Given the description of an element on the screen output the (x, y) to click on. 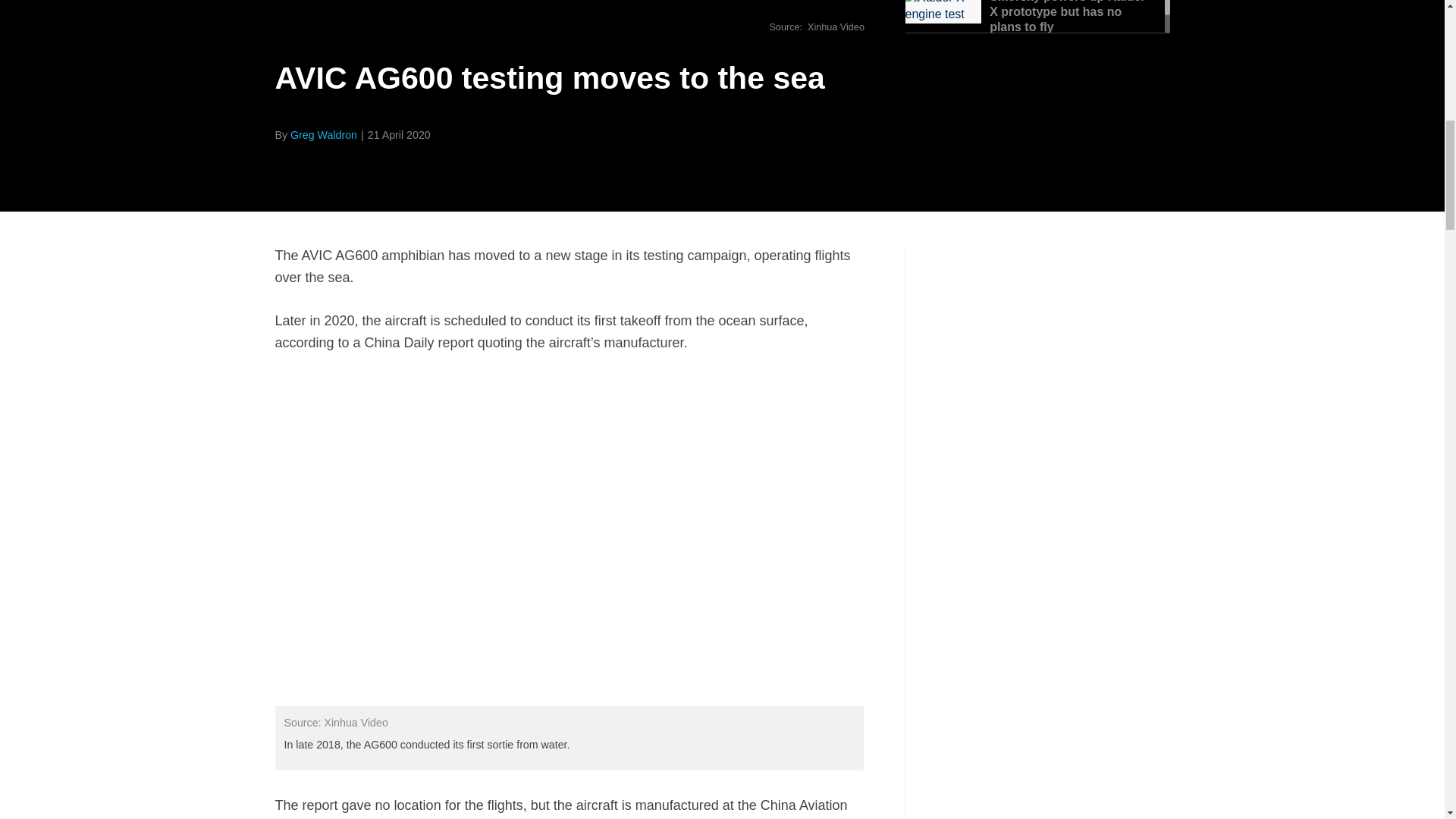
Share this on Twitter (320, 169)
Share this on Linked in (352, 169)
Email this article (386, 169)
Share this on Facebook (288, 169)
